Given the description of an element on the screen output the (x, y) to click on. 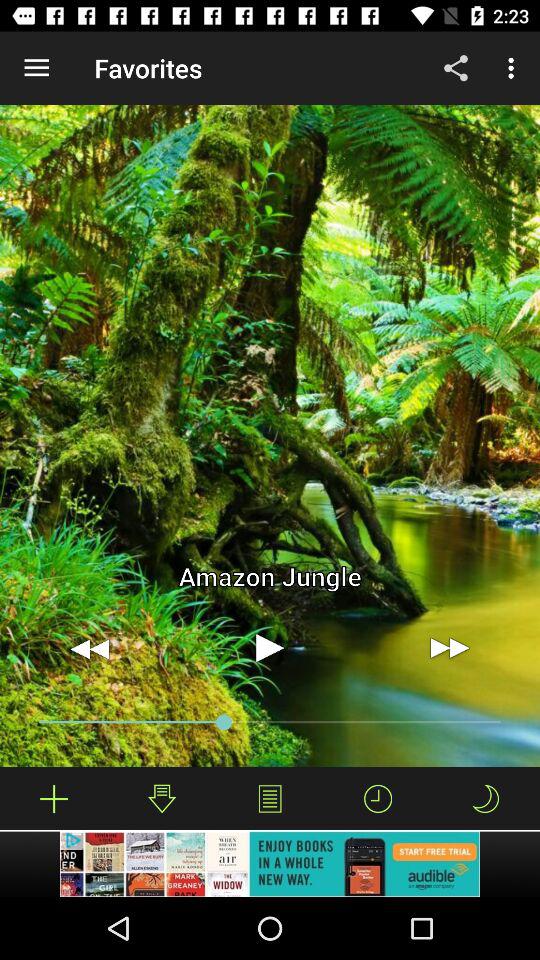
clock option (378, 798)
